Given the description of an element on the screen output the (x, y) to click on. 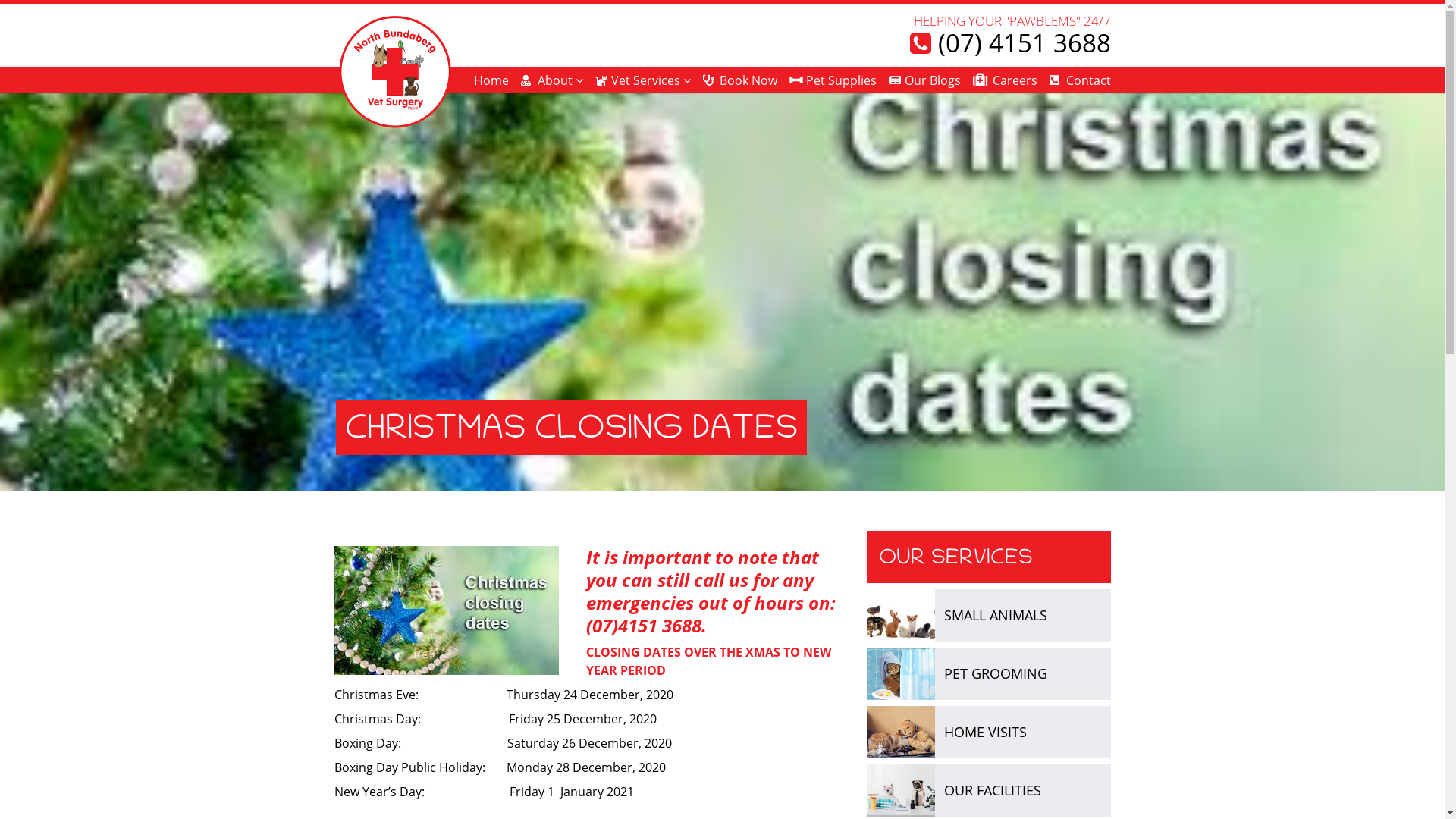
Careers Element type: text (1004, 80)
About Element type: text (551, 80)
PET GROOMING Element type: text (995, 673)
HOME VISITS Element type: text (985, 731)
Pet Supplies Element type: text (832, 80)
Vet Services Element type: text (643, 80)
Our Blogs Element type: text (924, 80)
OUR FACILITIES Element type: text (992, 790)
SMALL ANIMALS Element type: text (995, 614)
Contact Element type: text (1079, 80)
Book Now Element type: text (739, 80)
Home Element type: text (490, 80)
(07) 4151 3688 Element type: text (1010, 42)
